Given the description of an element on the screen output the (x, y) to click on. 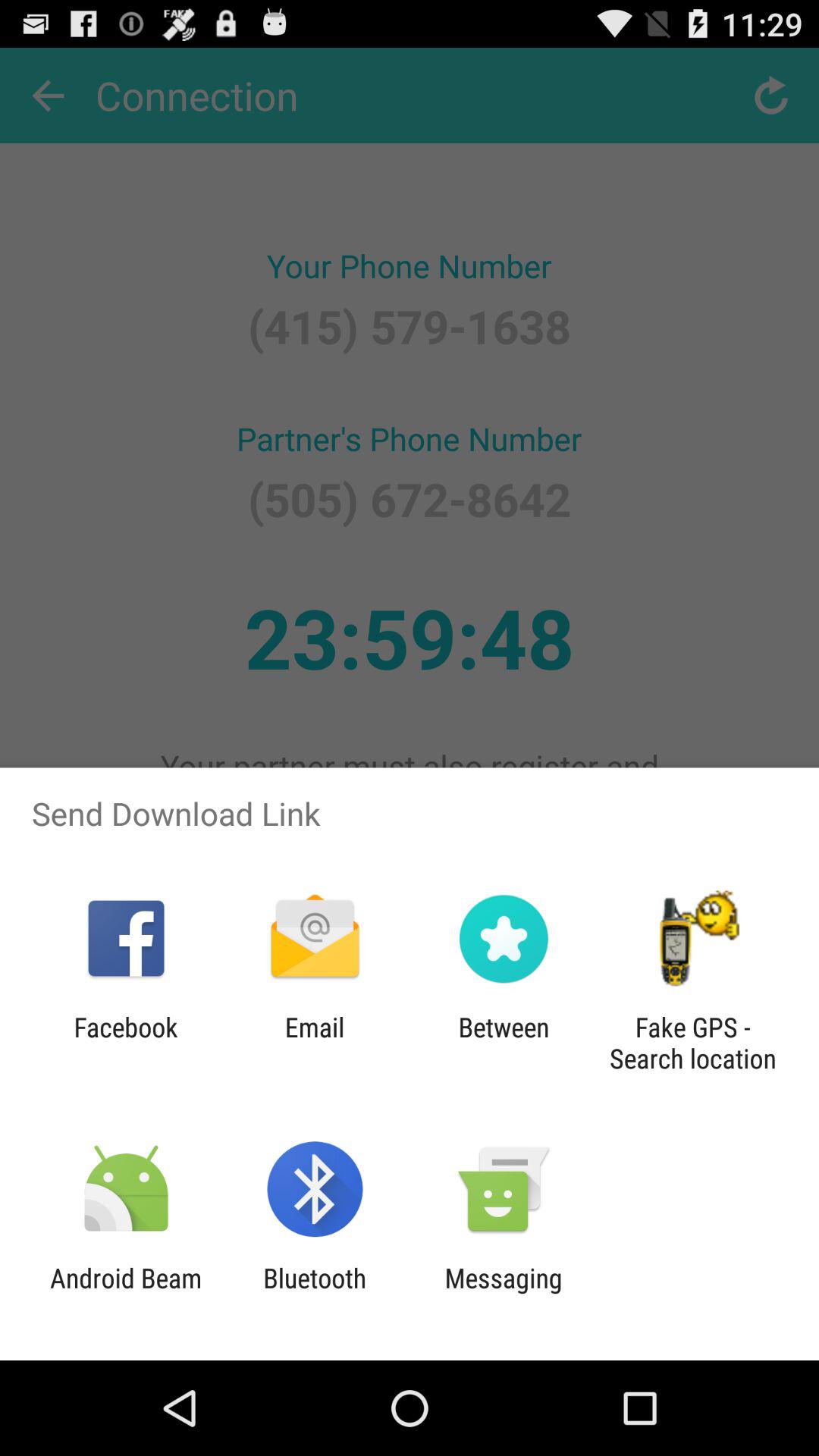
turn on messaging app (503, 1293)
